Given the description of an element on the screen output the (x, y) to click on. 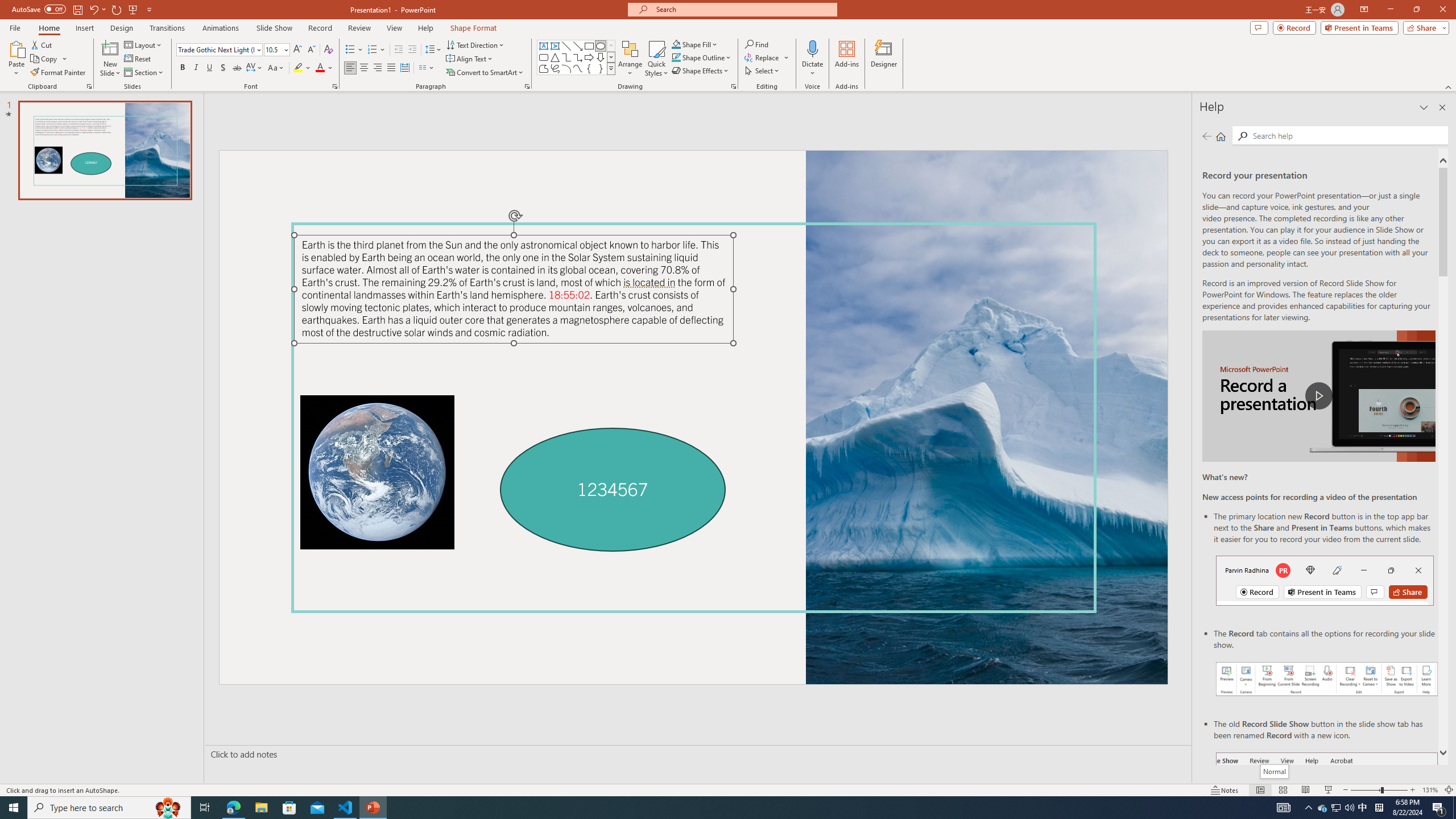
Shape Outline Teal, Accent 1 (675, 56)
